Given the description of an element on the screen output the (x, y) to click on. 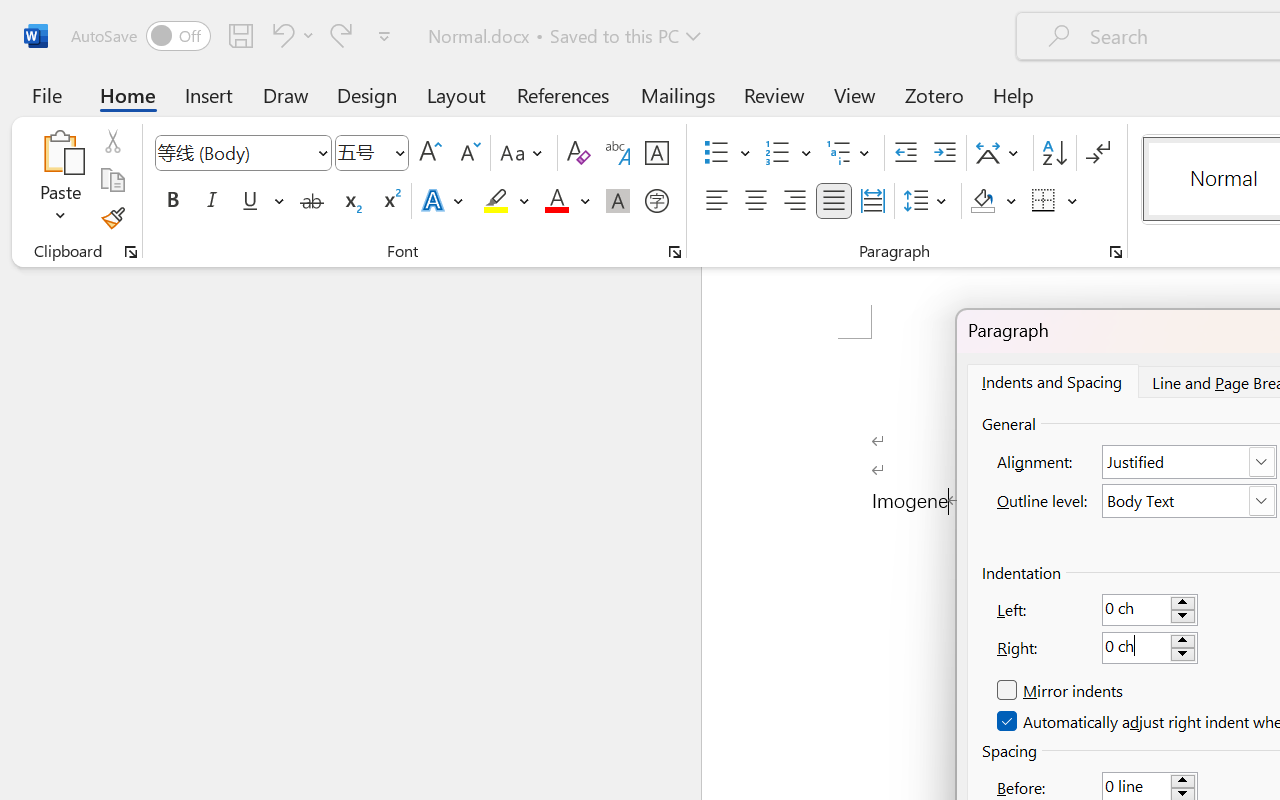
Decrease Indent (906, 153)
Justify (834, 201)
Multilevel List (850, 153)
Shrink Font (468, 153)
Change Case (524, 153)
Character Border (656, 153)
Format Painter (112, 218)
Font Color (567, 201)
